Given the description of an element on the screen output the (x, y) to click on. 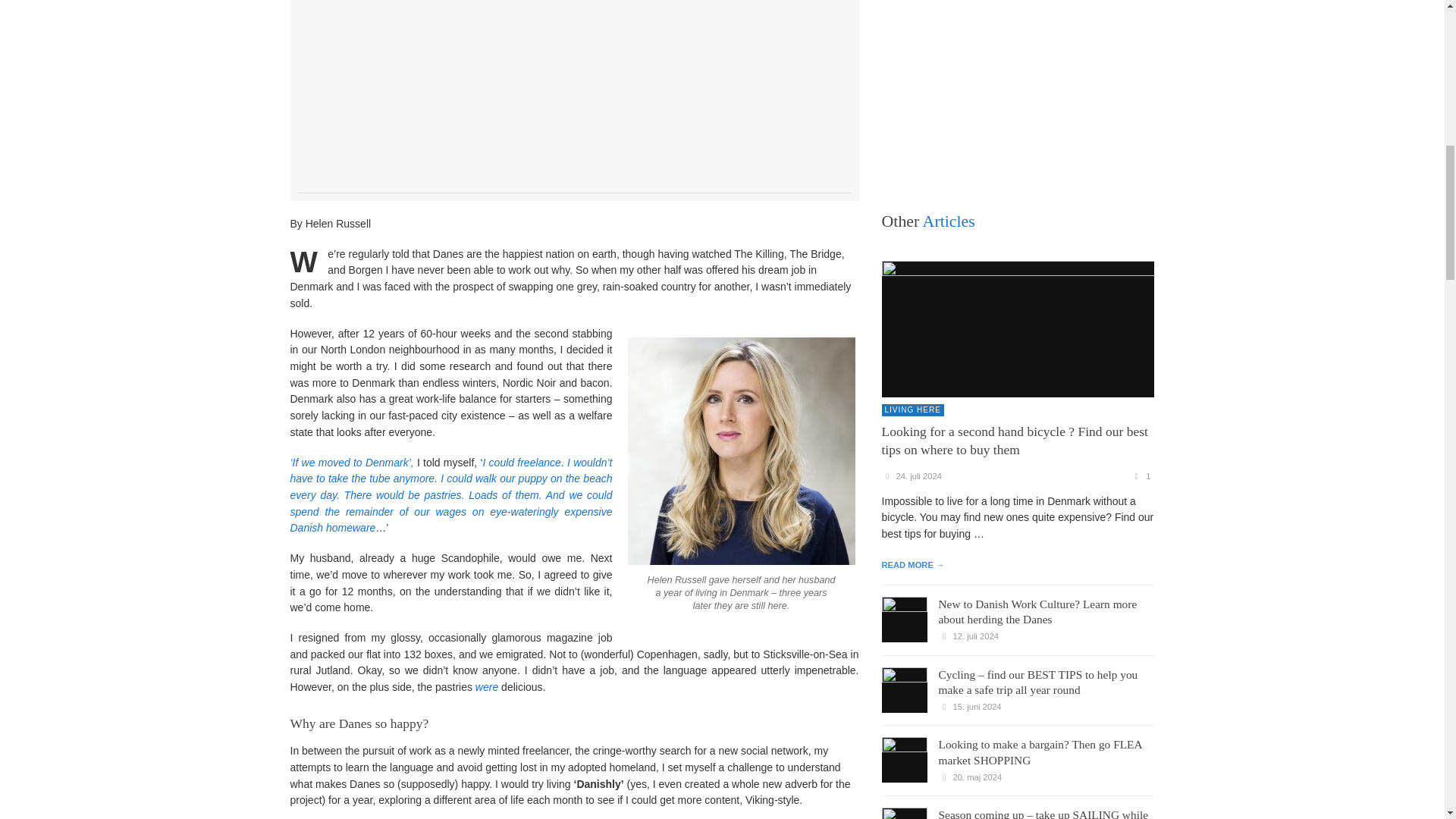
LIVING HERE (911, 410)
View all posts in Living Here (911, 410)
